Given the description of an element on the screen output the (x, y) to click on. 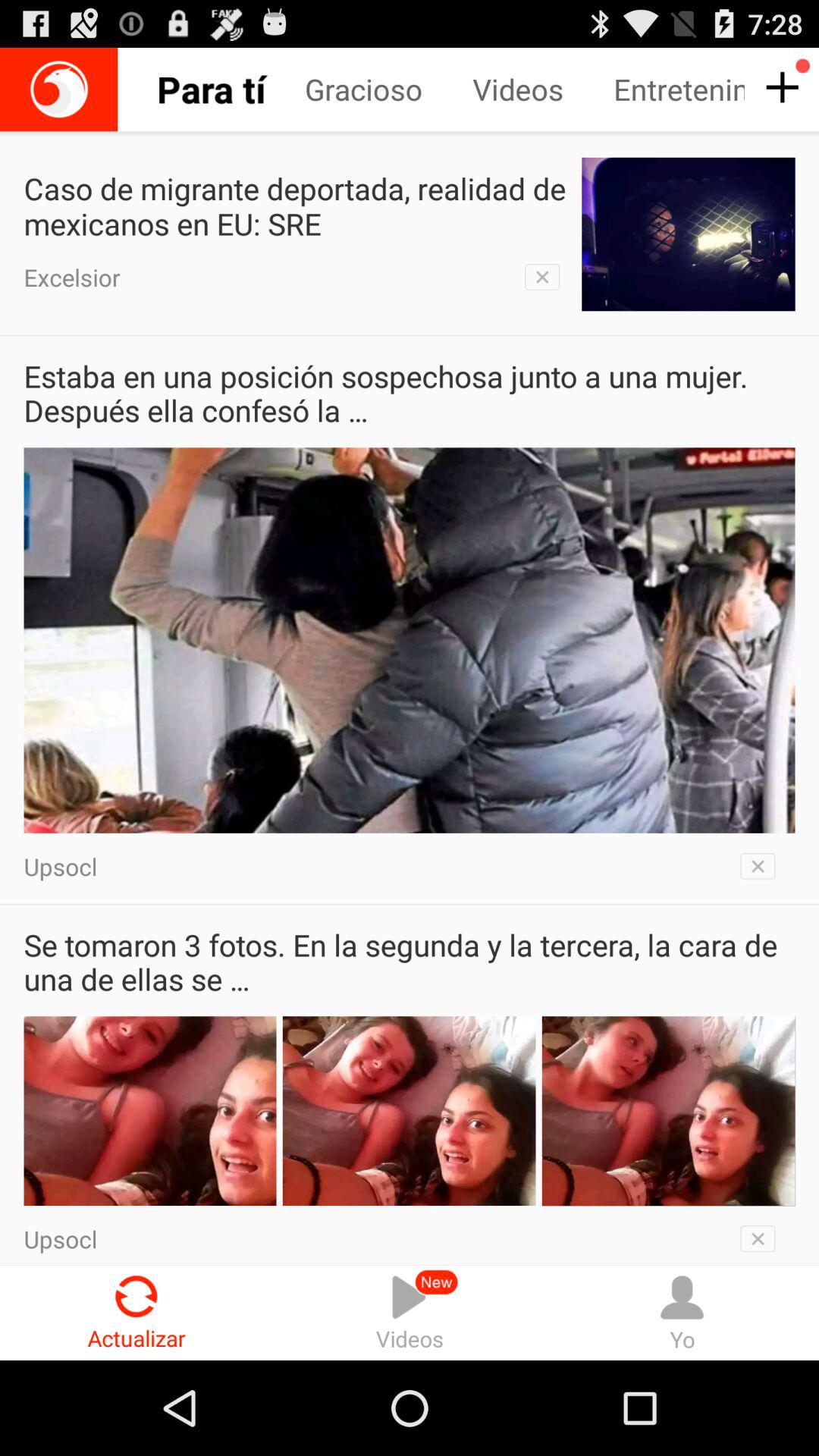
logo and could be home button also (58, 89)
